Given the description of an element on the screen output the (x, y) to click on. 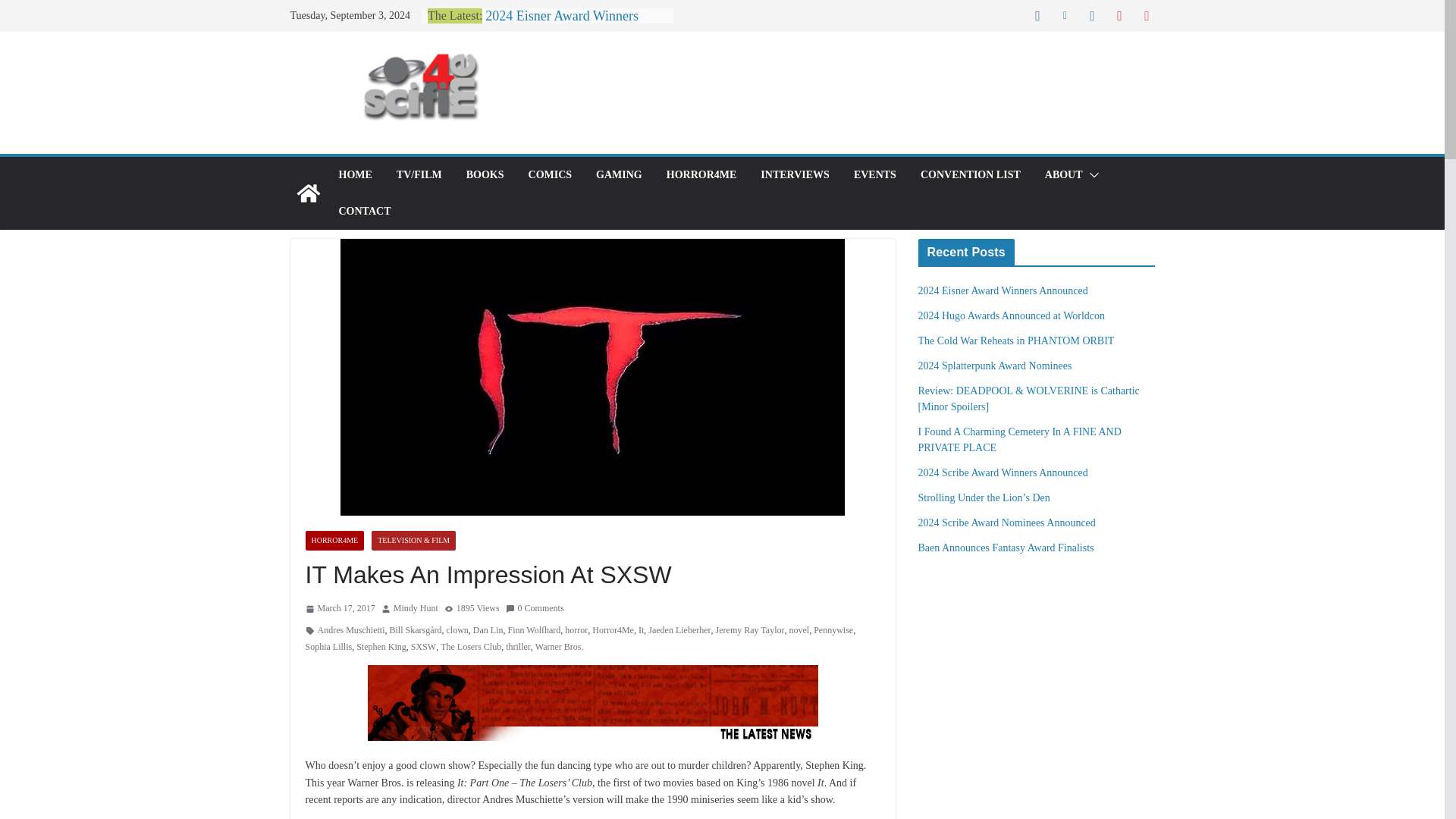
HOME (354, 174)
Finn Wolfhard (533, 630)
horror (576, 630)
Mindy Hunt (415, 608)
Horror4Me (612, 630)
0 Comments (534, 608)
HORROR4ME (334, 540)
EVENTS (874, 174)
ABOUT (1064, 174)
8:05 pm (339, 608)
